Given the description of an element on the screen output the (x, y) to click on. 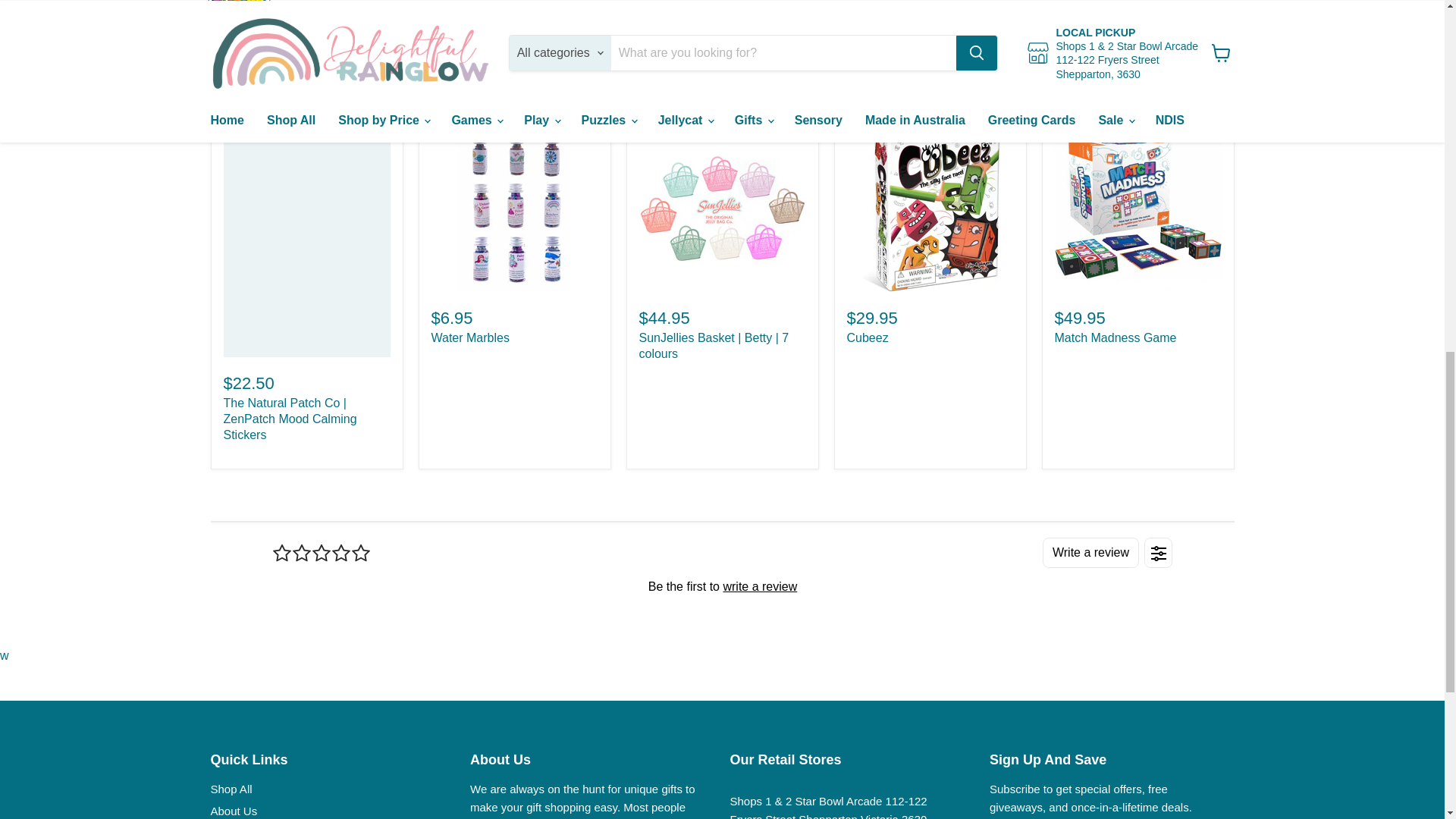
Product reviews widget (721, 585)
